Given the description of an element on the screen output the (x, y) to click on. 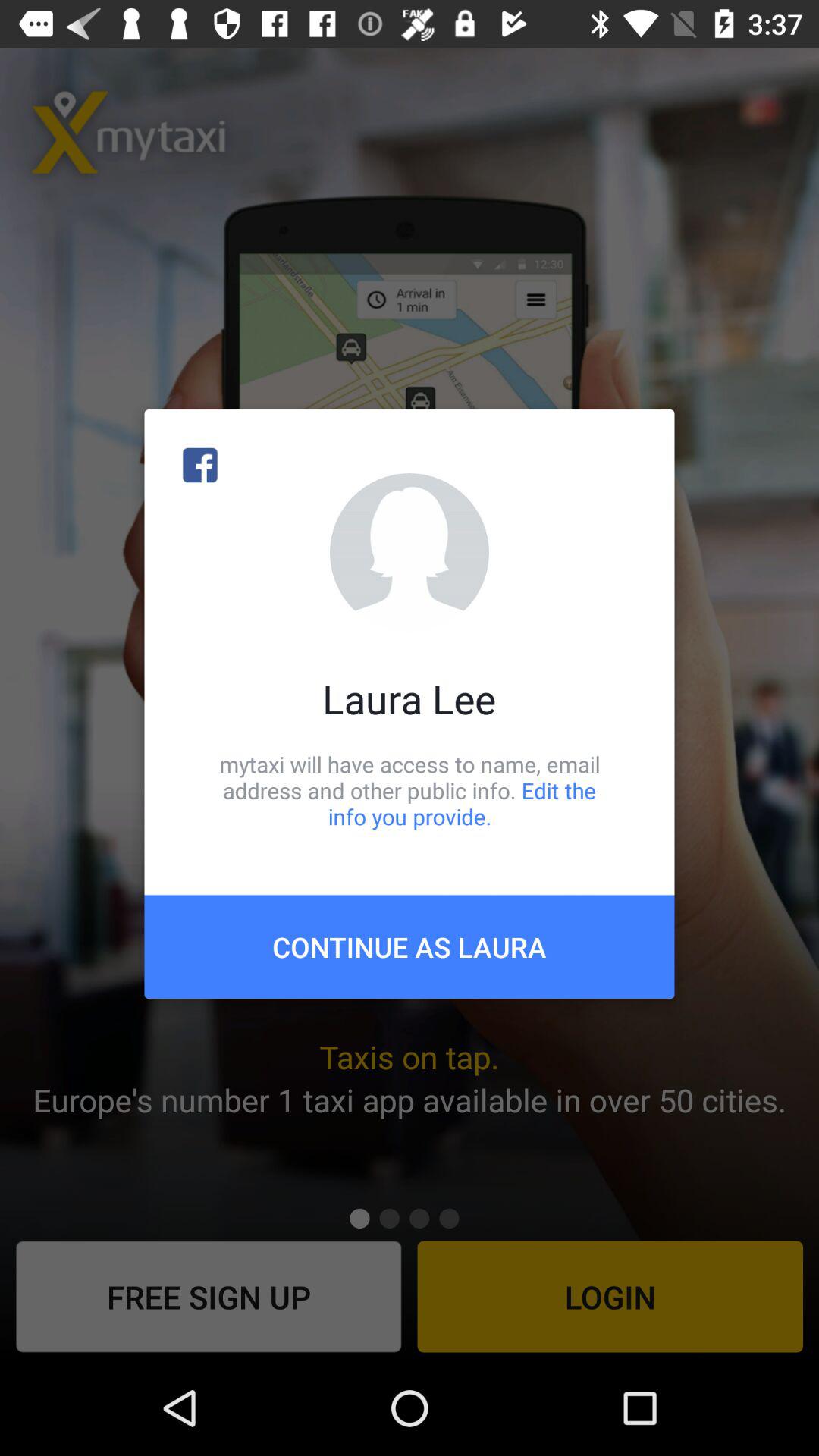
open the item above continue as laura item (409, 790)
